Given the description of an element on the screen output the (x, y) to click on. 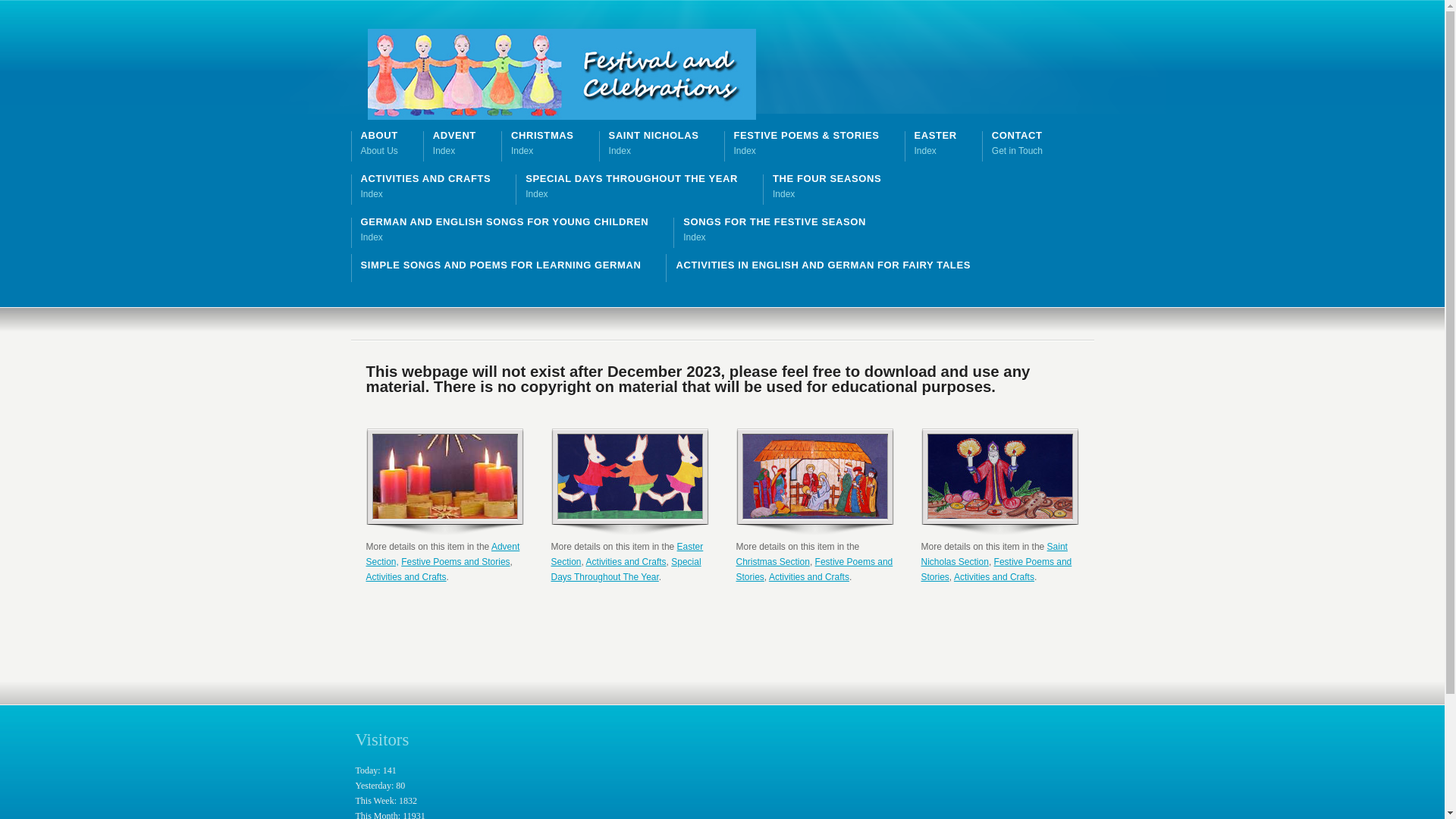
CHRISTMAS
Index Element type: text (542, 143)
ACTIVITIES IN ENGLISH AND GERMAN FOR FAIRY TALES Element type: text (822, 265)
Activities and Crafts Element type: text (626, 561)
Christmas Section Element type: text (772, 561)
GERMAN AND ENGLISH SONGS FOR YOUNG CHILDREN
Index Element type: text (504, 229)
ABOUT
About Us Element type: text (379, 143)
CONTACT
Get in Touch Element type: text (1016, 143)
Easter Section Element type: text (626, 554)
Activities and Crafts Element type: text (405, 576)
Festive Poems and Stories Element type: text (995, 569)
FESTIVE POEMS & STORIES
Index Element type: text (806, 143)
ACTIVITIES AND CRAFTS
Index Element type: text (425, 186)
Activities and Crafts Element type: text (993, 576)
SAINT NICHOLAS
Index Element type: text (653, 143)
Visitors Element type: text (381, 739)
Advent Section, Element type: text (442, 554)
SONGS FOR THE FESTIVE SEASON
Index Element type: text (774, 229)
THE FOUR SEASONS
Index Element type: text (826, 186)
EASTER
Index Element type: text (935, 143)
Festive Poems and Stories Element type: text (455, 561)
Activities and Crafts Element type: text (808, 576)
ADVENT
Index Element type: text (454, 143)
SIMPLE SONGS AND POEMS FOR LEARNING GERMAN Element type: text (500, 265)
Special Days Throughout The Year Element type: text (625, 569)
Saint Nicholas Section Element type: text (993, 554)
SPECIAL DAYS THROUGHOUT THE YEAR
Index Element type: text (631, 186)
Festive Poems and Stories Element type: text (813, 569)
